Given the description of an element on the screen output the (x, y) to click on. 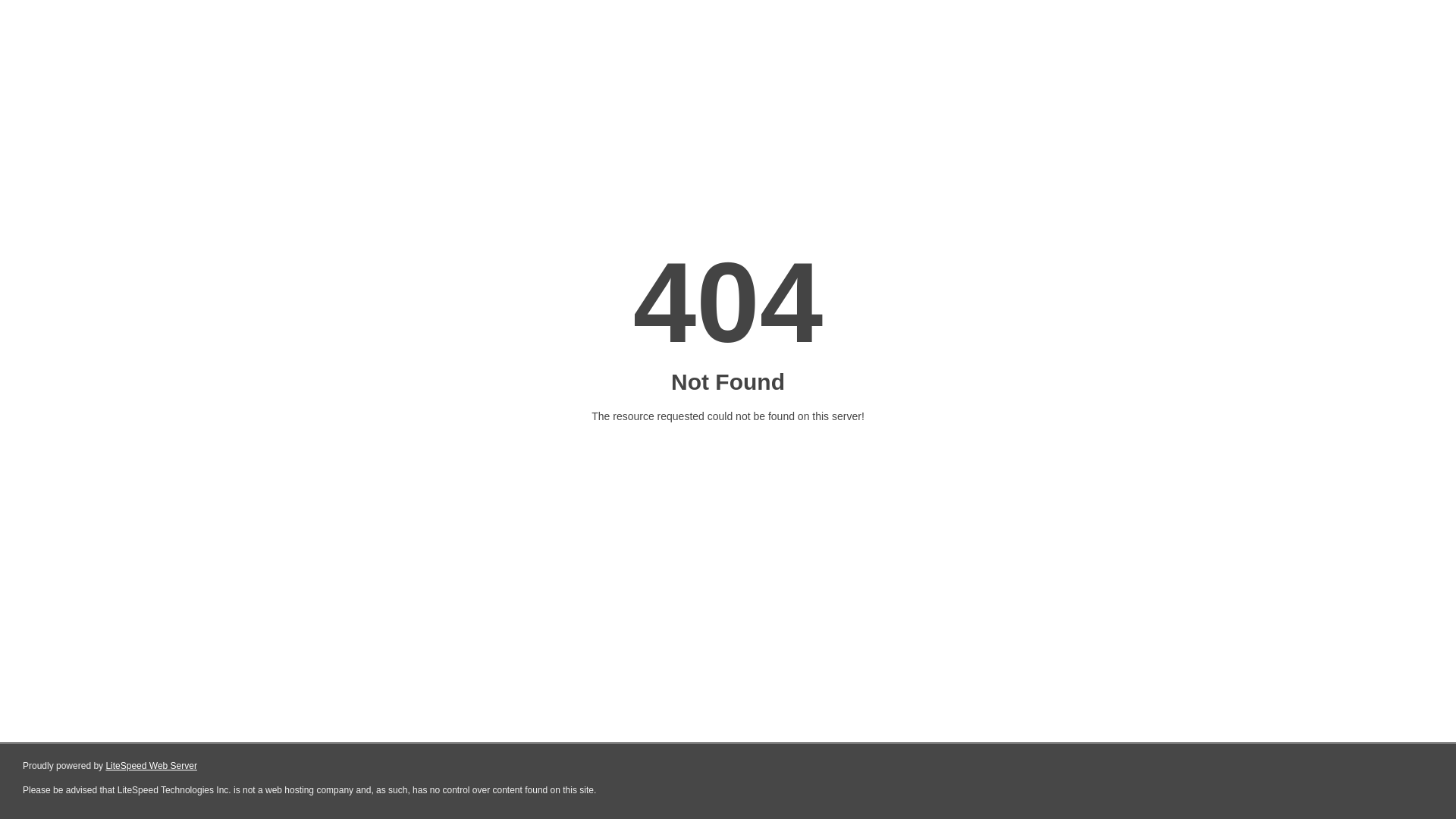
LiteSpeed Web Server Element type: text (151, 765)
